Given the description of an element on the screen output the (x, y) to click on. 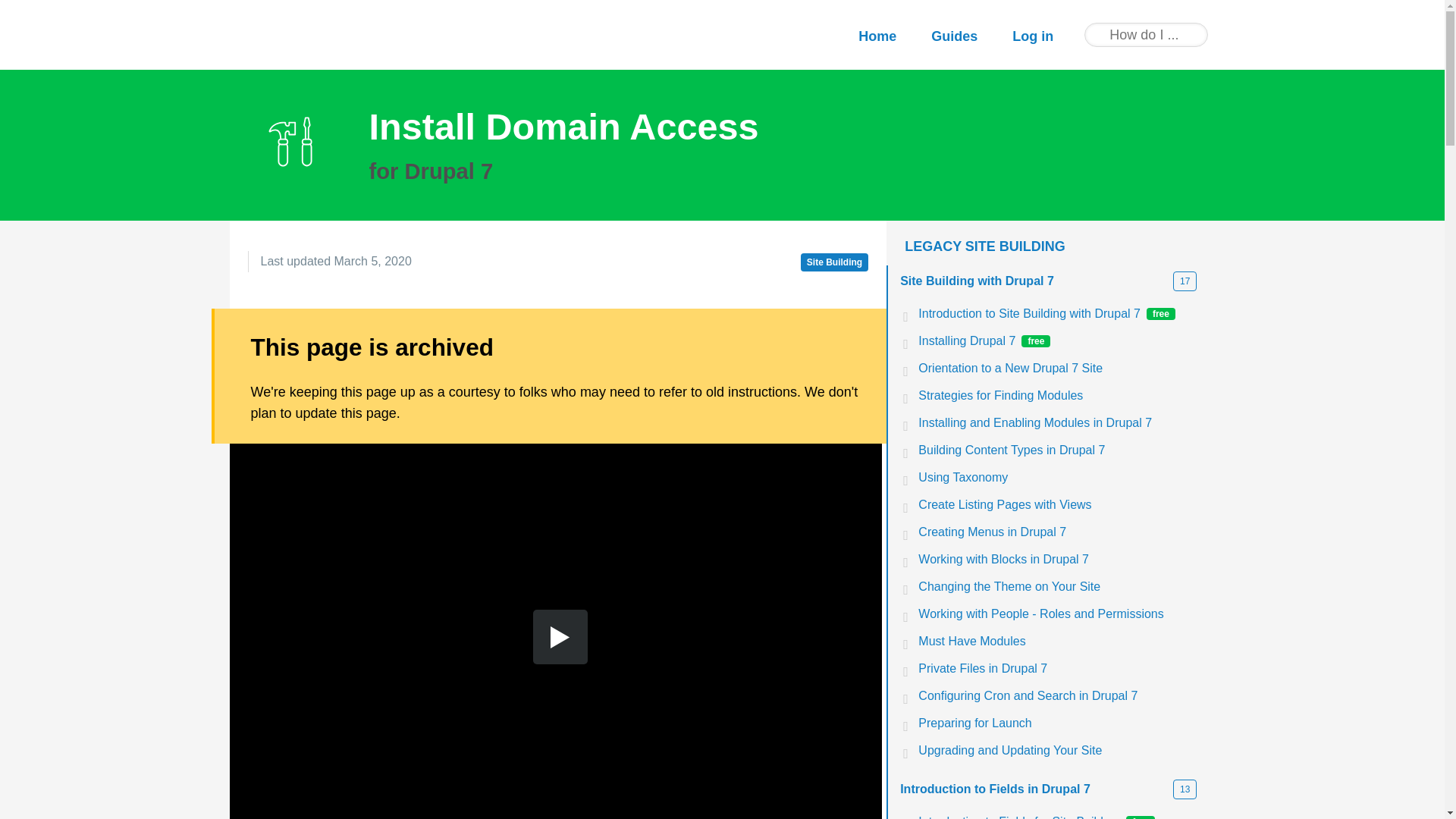
Must Have Modules (1057, 641)
Log in (1031, 36)
Using Taxonomy (1057, 477)
Building Content Types in Drupal 7 (1057, 450)
Working with People - Roles and Permissions (1057, 613)
Guides (954, 36)
Installing and Enabling Modules in Drupal 7 (1057, 422)
Orientation to a New Drupal 7 Site (1057, 368)
Configuring Cron and Search in Drupal 7 (1057, 695)
Drupalize.Me (296, 31)
Create Listing Pages with Views (1057, 313)
Site Building (1057, 504)
Private Files in Drupal 7 (833, 262)
Introduction to Fields in Drupal 7 (1057, 668)
